Given the description of an element on the screen output the (x, y) to click on. 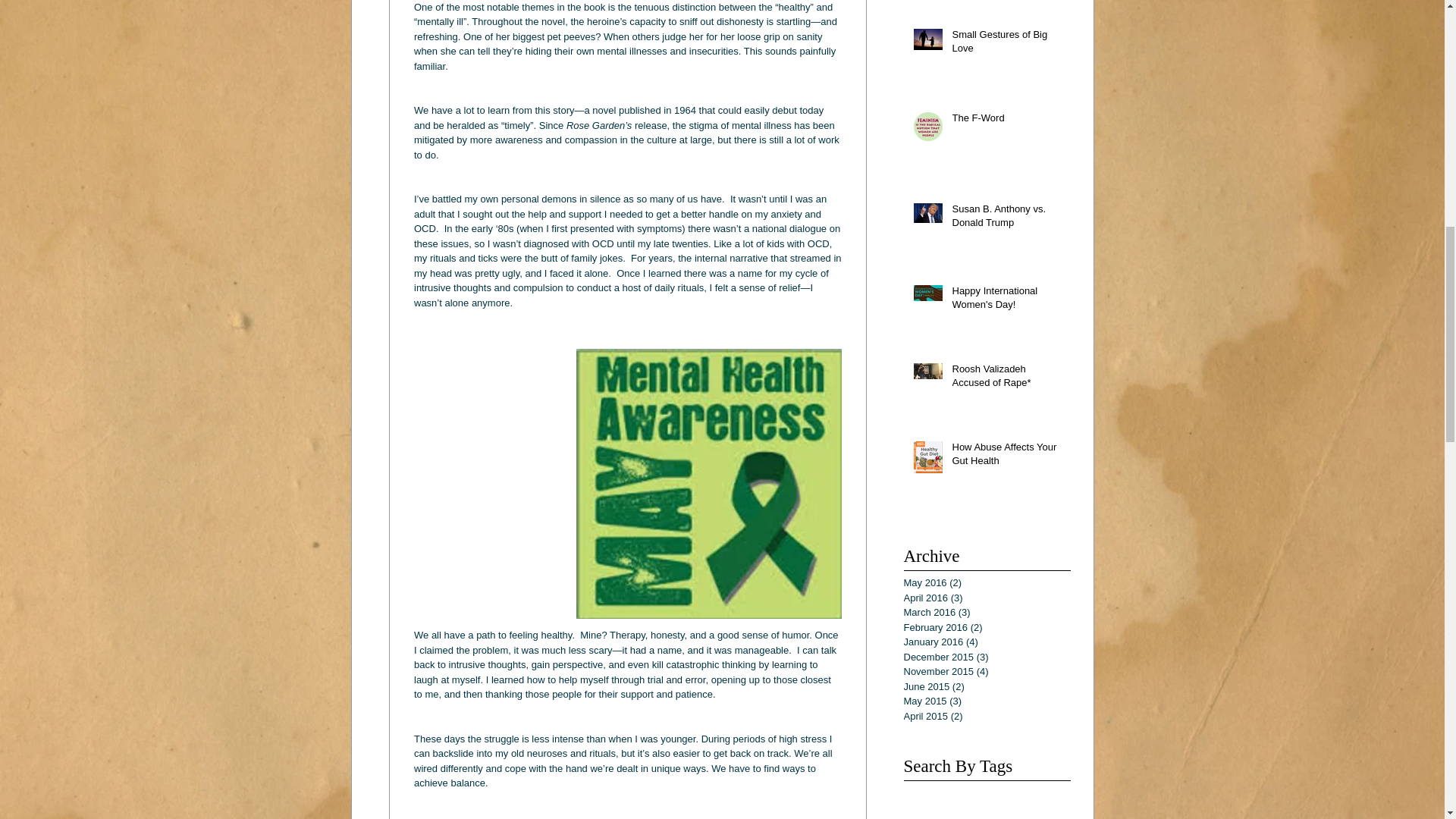
Embedded Content (1041, 341)
Susan B. Anthony vs. Donald Trump (1006, 218)
How Abuse Affects Your Gut Health (1006, 457)
The F-Word (1006, 121)
Happy International Women's Day! (1006, 300)
Embedded Content (1045, 443)
Small Gestures of Big Love (1006, 44)
